Given the description of an element on the screen output the (x, y) to click on. 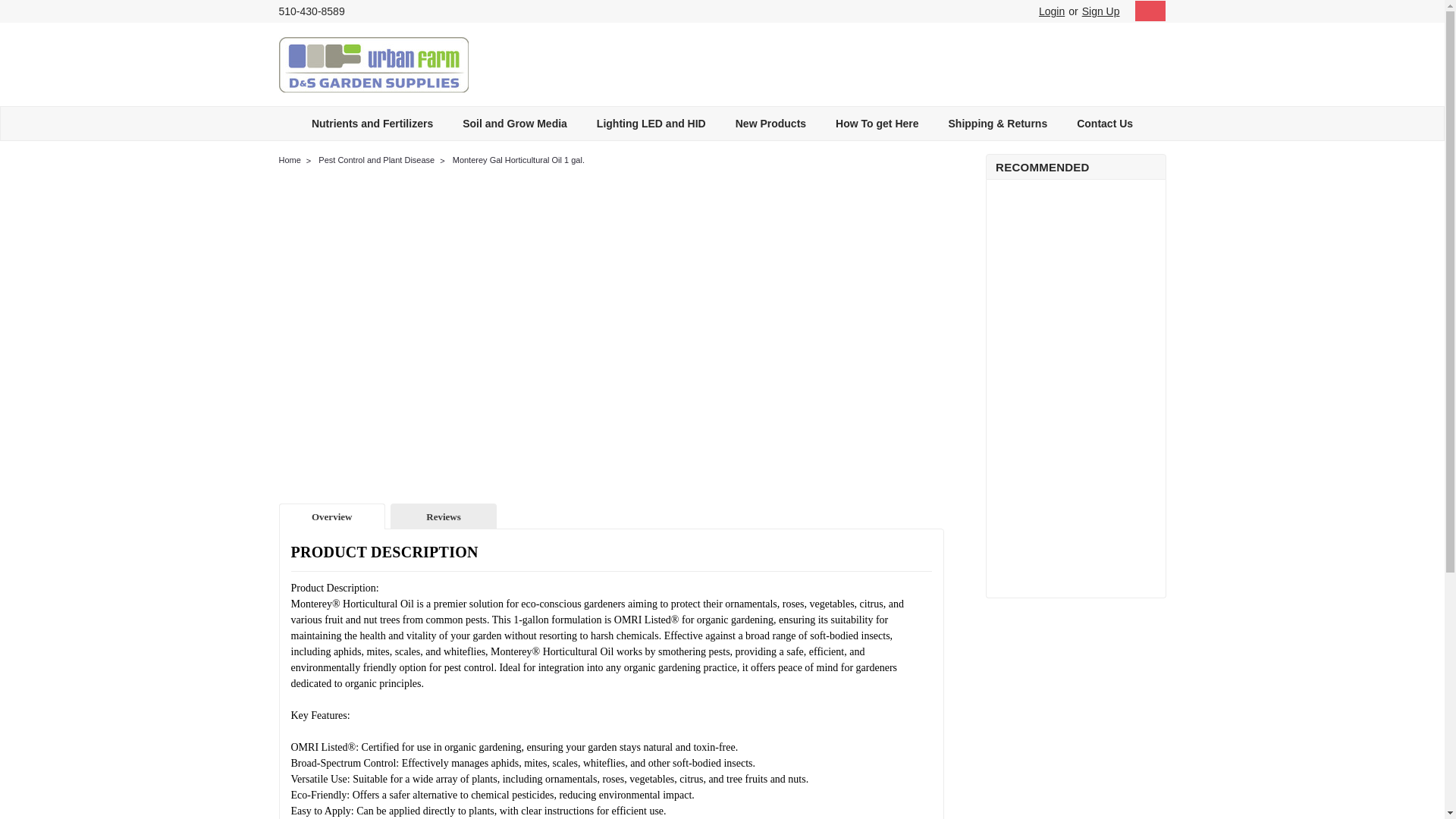
Sign Up (1098, 11)
Login (1051, 11)
DS Urban Farm DS Garden Supplies (373, 63)
